Given the description of an element on the screen output the (x, y) to click on. 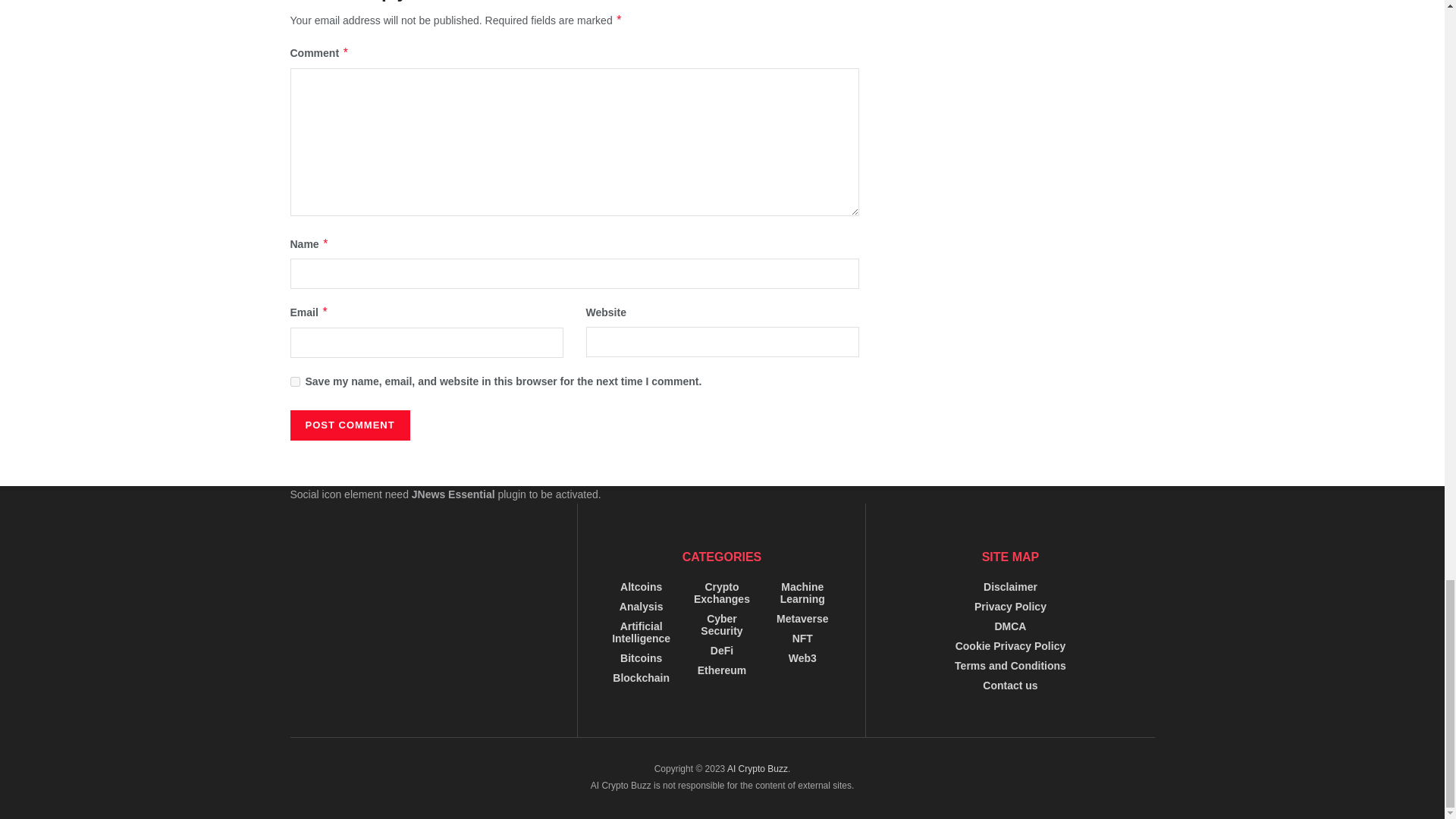
AI Crypto Buzz (756, 768)
Post Comment (349, 425)
yes (294, 381)
